Given the description of an element on the screen output the (x, y) to click on. 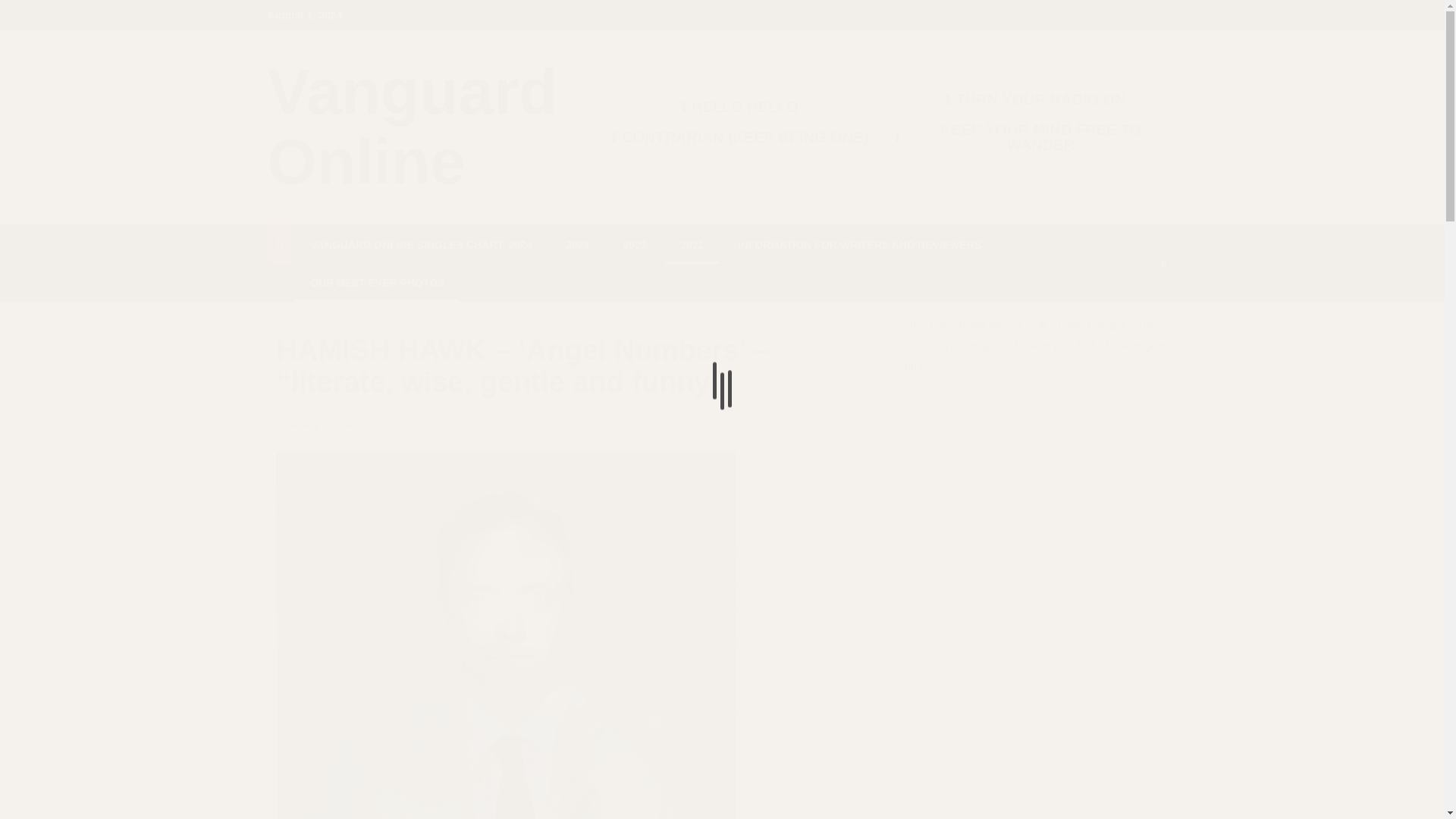
2022 (634, 244)
Search (1133, 308)
2021 (691, 244)
INFORMATION FOR WRITERS AND REVIEWERS (859, 244)
2023 (577, 244)
OUR BEST EVER PHOTOS (377, 282)
VANGUARD ONLINE SINGLES CHART, 2024 (420, 244)
Vanguard Online (411, 126)
